Given the description of an element on the screen output the (x, y) to click on. 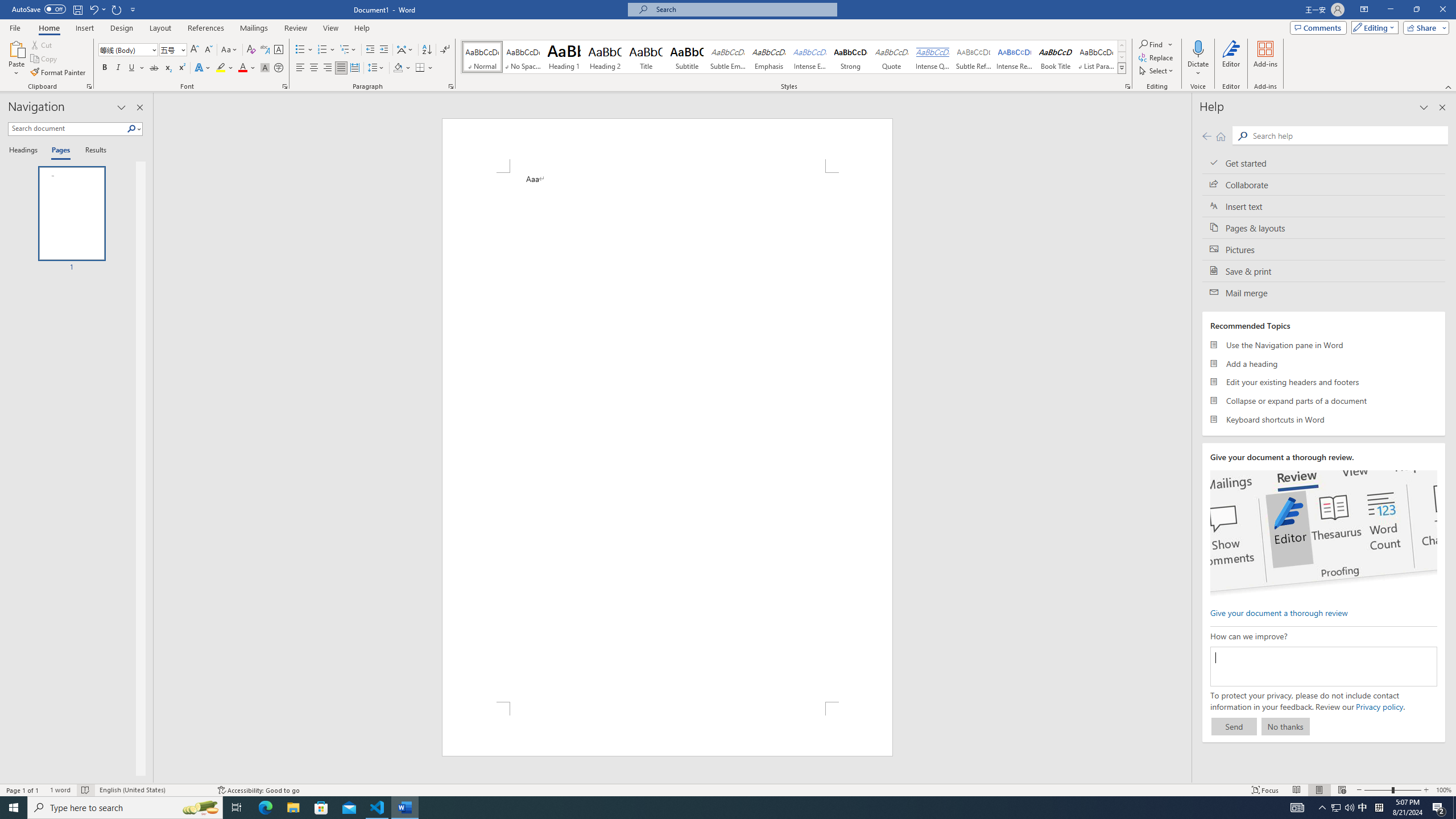
Text Highlight Color (224, 67)
Minimize (1390, 9)
Font Size (169, 49)
Home (1220, 136)
View (330, 28)
Strikethrough (154, 67)
Repeat Increase Indent (117, 9)
Justify (340, 67)
Change Case (229, 49)
Show/Hide Editing Marks (444, 49)
Format Painter (58, 72)
Collaborate (1323, 184)
Privacy policy (1379, 706)
Search (1347, 135)
